Given the description of an element on the screen output the (x, y) to click on. 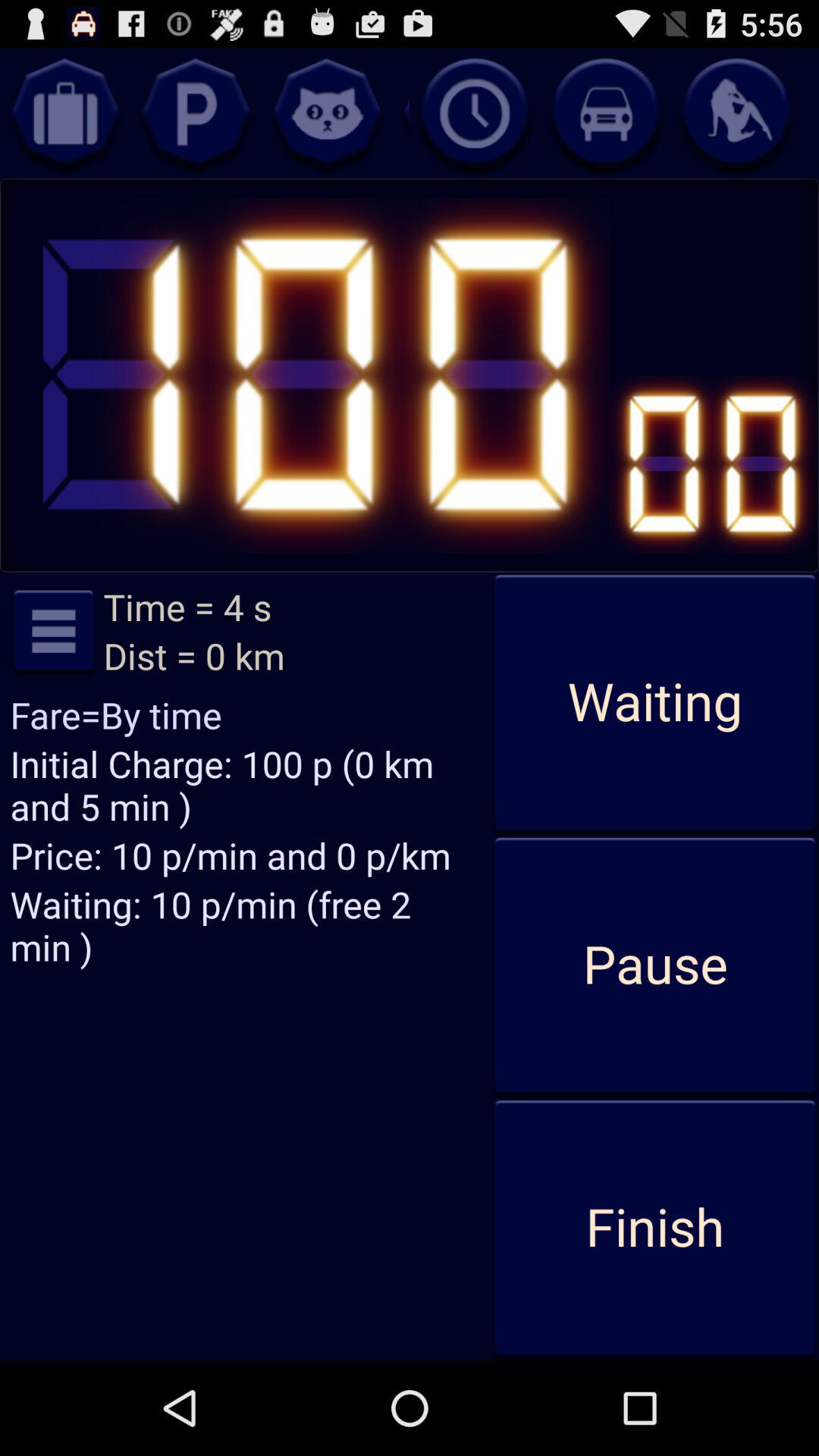
calculate a taxi fare (605, 112)
